Given the description of an element on the screen output the (x, y) to click on. 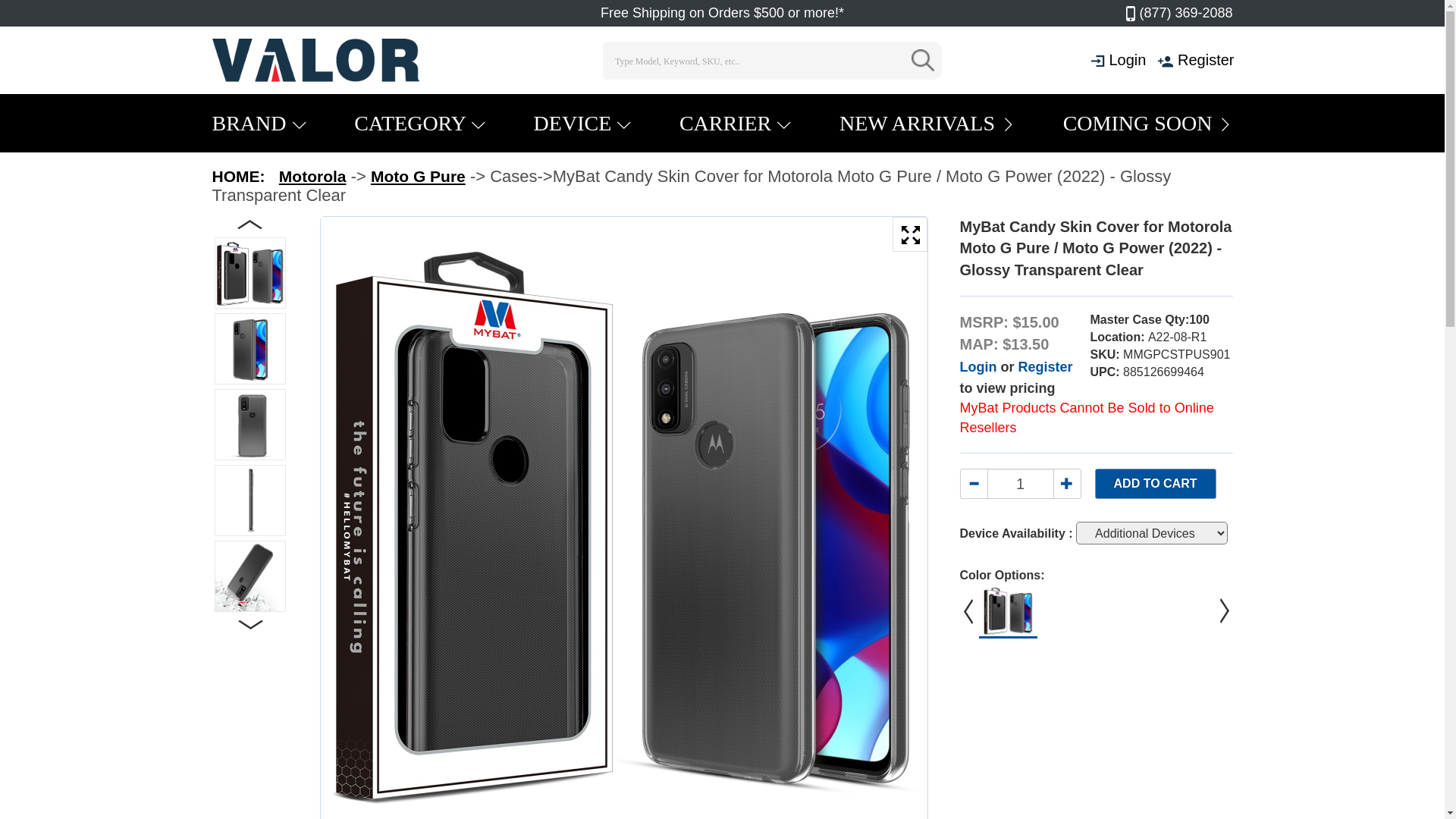
HOME: Element type: text (238, 176)
Login Element type: text (1126, 59)
Login Element type: text (978, 366)
ADD TO CART Element type: text (1155, 483)
Moto G Pure Element type: text (417, 176)
Free Shipping on Orders $500 or more!* Element type: text (722, 12)
Register Element type: text (1205, 59)
Register Element type: text (1044, 366)
Motorola Element type: text (312, 176)
COMING SOON  Element type: text (1147, 123)
NEW ARRIVALS  Element type: text (926, 123)
